Given the description of an element on the screen output the (x, y) to click on. 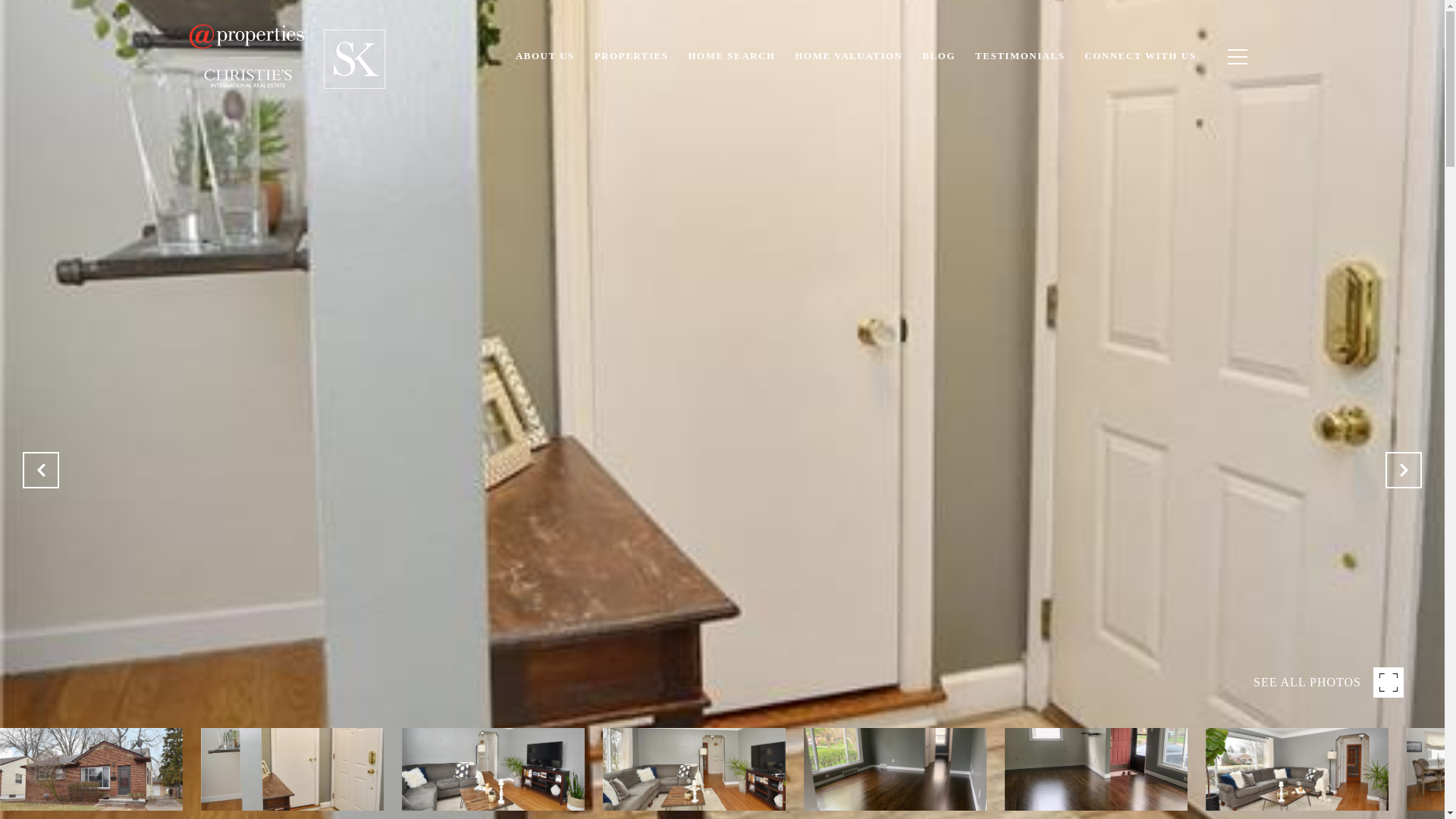
BLOG (939, 55)
PROPERTIES (631, 55)
ABOUT US (545, 55)
HOME VALUATION (849, 55)
HOME SEARCH (731, 55)
CONNECT WITH US (1141, 55)
TESTIMONIALS (1019, 55)
